Given the description of an element on the screen output the (x, y) to click on. 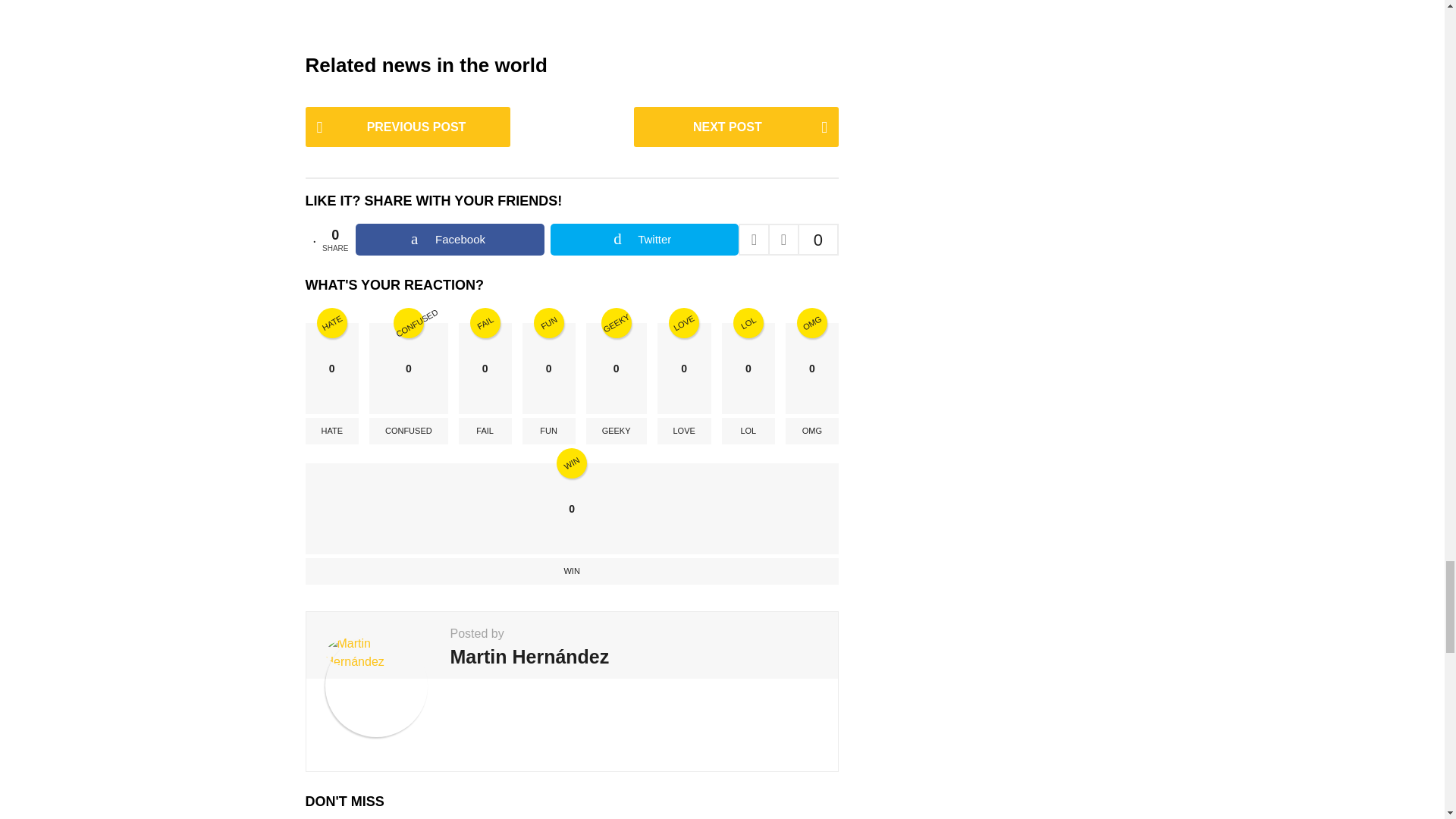
Share on Twitter (644, 239)
Share on Facebook (449, 239)
